Given the description of an element on the screen output the (x, y) to click on. 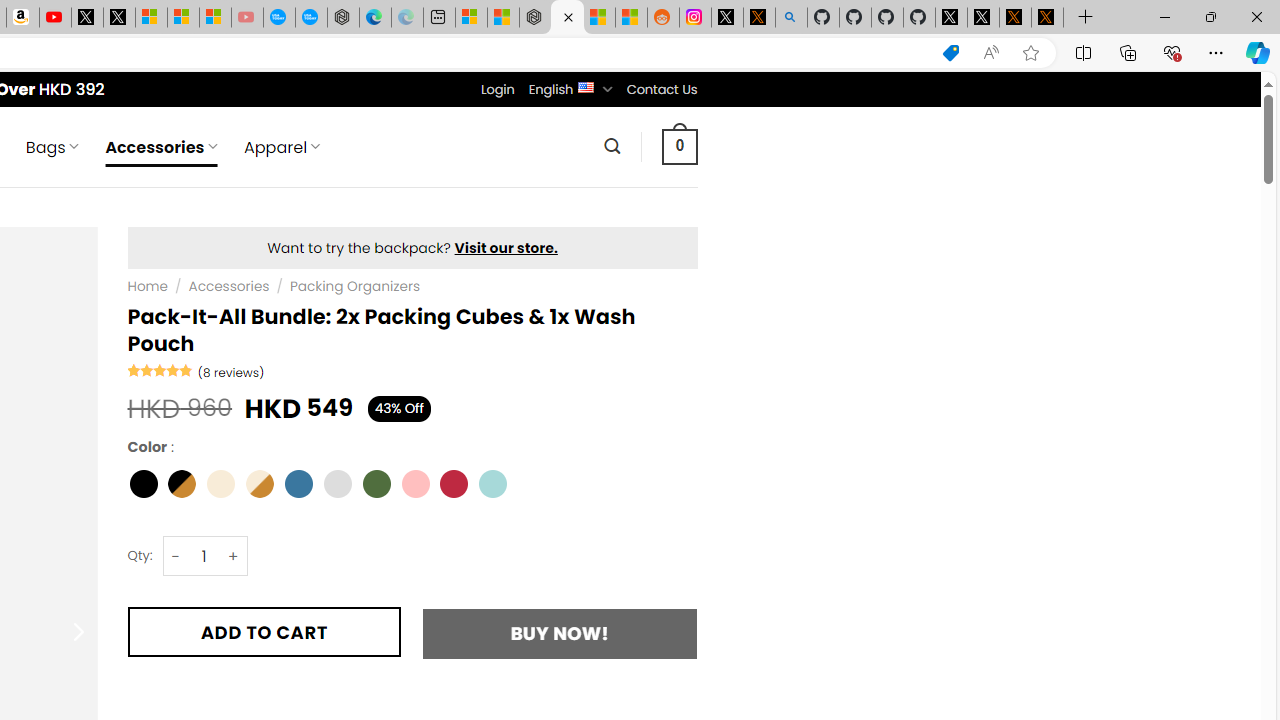
X (118, 17)
Accessories (229, 286)
  0   (679, 146)
Nordace - Nordace has arrived Hong Kong (343, 17)
- (175, 555)
Login (497, 89)
Packing Organizers (355, 286)
Day 1: Arriving in Yemen (surreal to be here) - YouTube (54, 17)
X Privacy Policy (1047, 17)
